Given the description of an element on the screen output the (x, y) to click on. 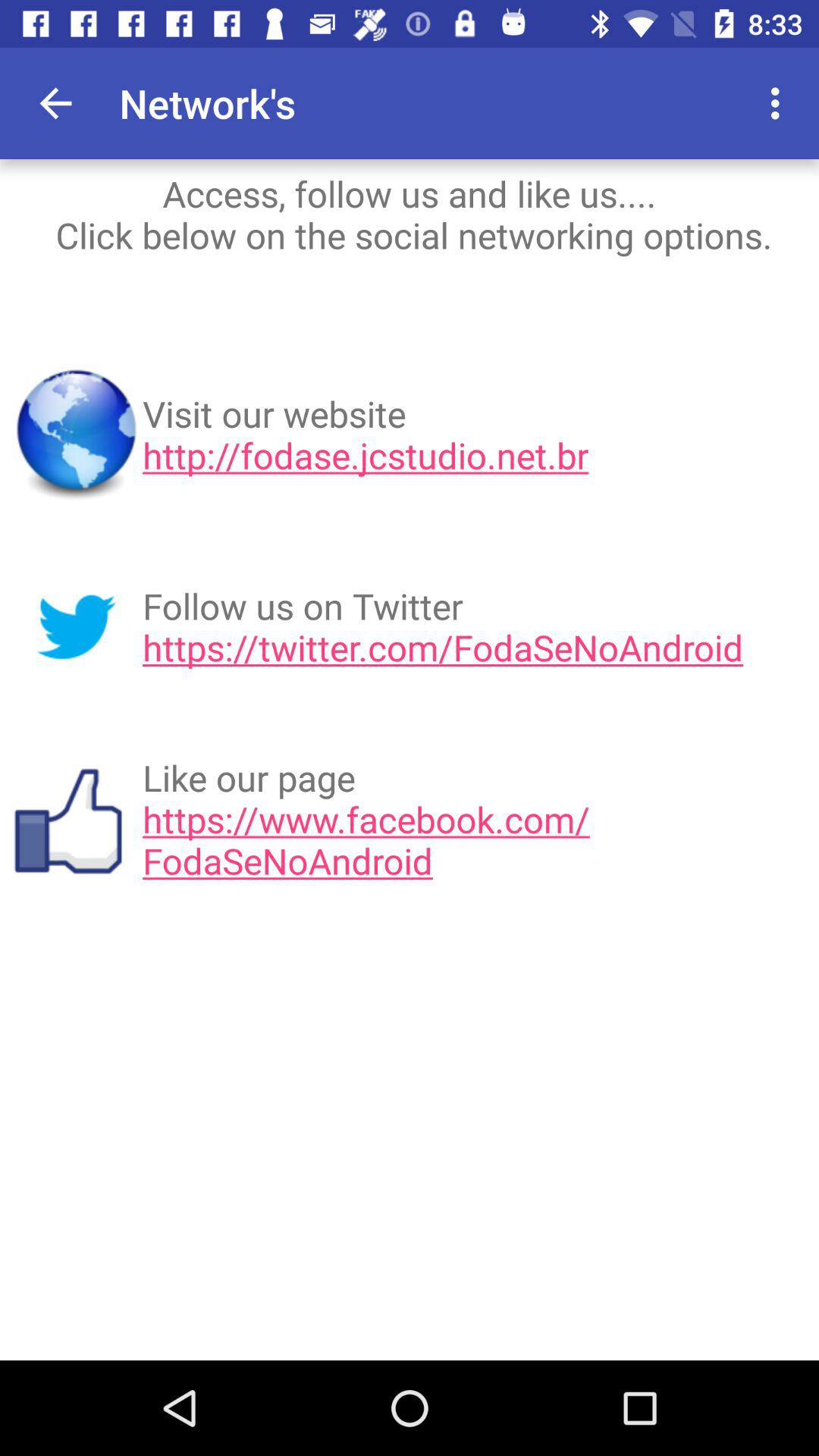
click item above the access follow us (55, 103)
